Given the description of an element on the screen output the (x, y) to click on. 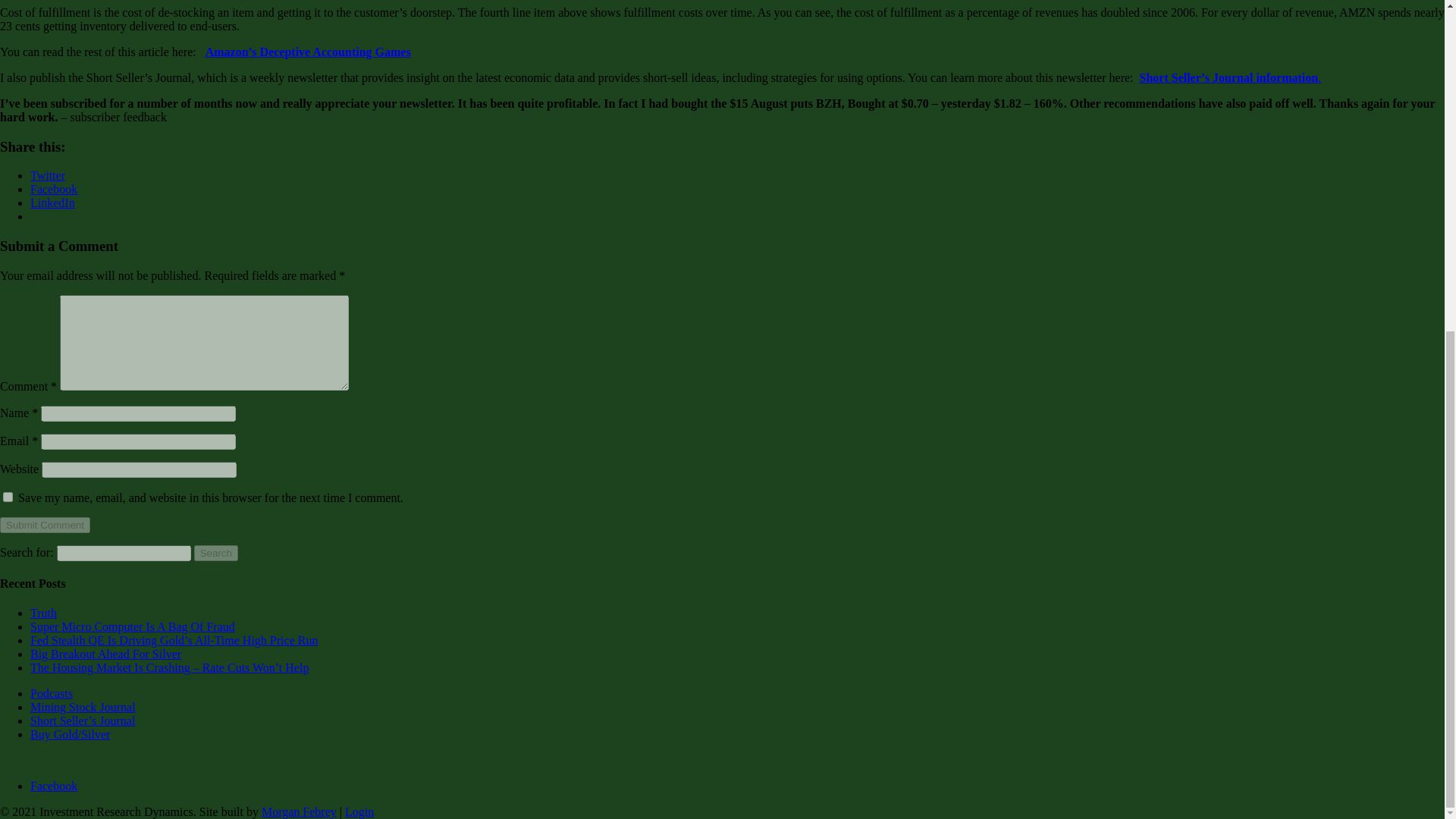
Super Micro Computer Is A Bag Of Fraud (132, 626)
Truth (43, 612)
Login (359, 811)
Search (215, 553)
Facebook (53, 188)
Facebook (53, 785)
Click to share on Facebook (53, 188)
Morgan Febrey (299, 811)
Twitter (47, 174)
Big Breakout Ahead For Silver (105, 653)
